Given the description of an element on the screen output the (x, y) to click on. 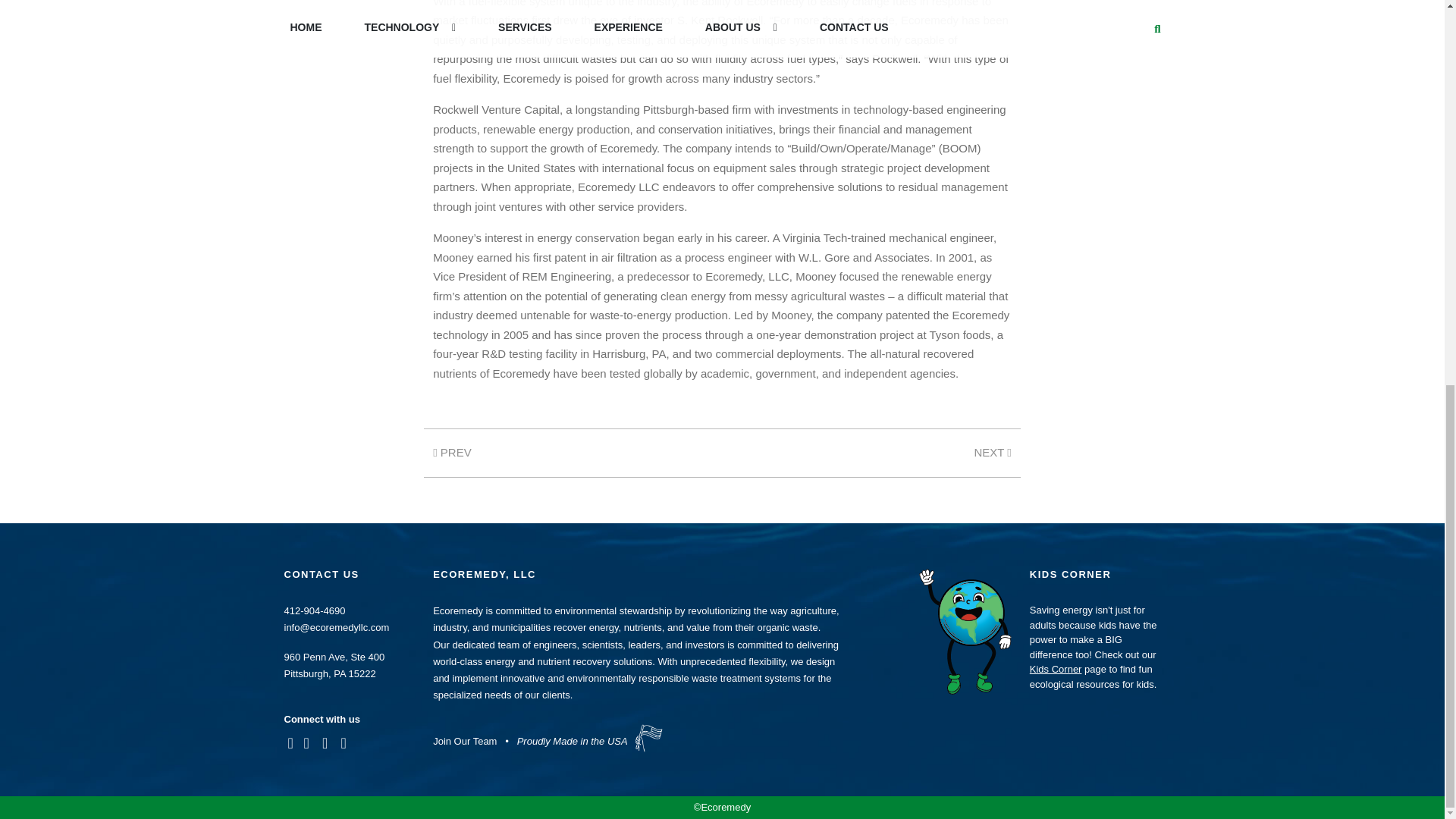
PREV (451, 451)
Kids Corner (1055, 668)
NEXT (992, 451)
Join Our Team (464, 740)
